Given the description of an element on the screen output the (x, y) to click on. 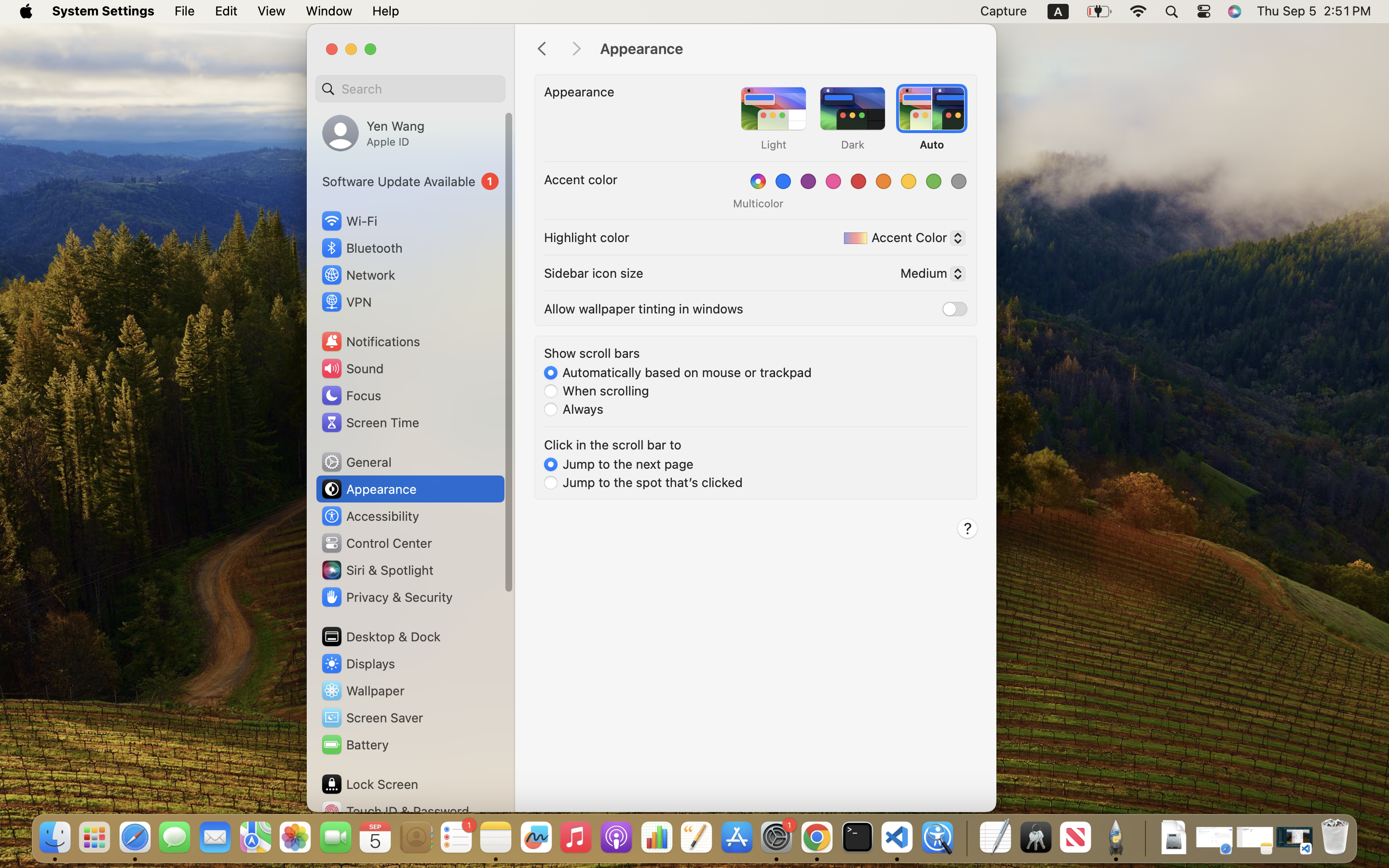
Accessibility Element type: AXStaticText (369, 515)
Wi‑Fi Element type: AXStaticText (348, 220)
Multicolor Element type: AXStaticText (758, 203)
Yen Wang, Apple ID Element type: AXStaticText (373, 132)
